Given the description of an element on the screen output the (x, y) to click on. 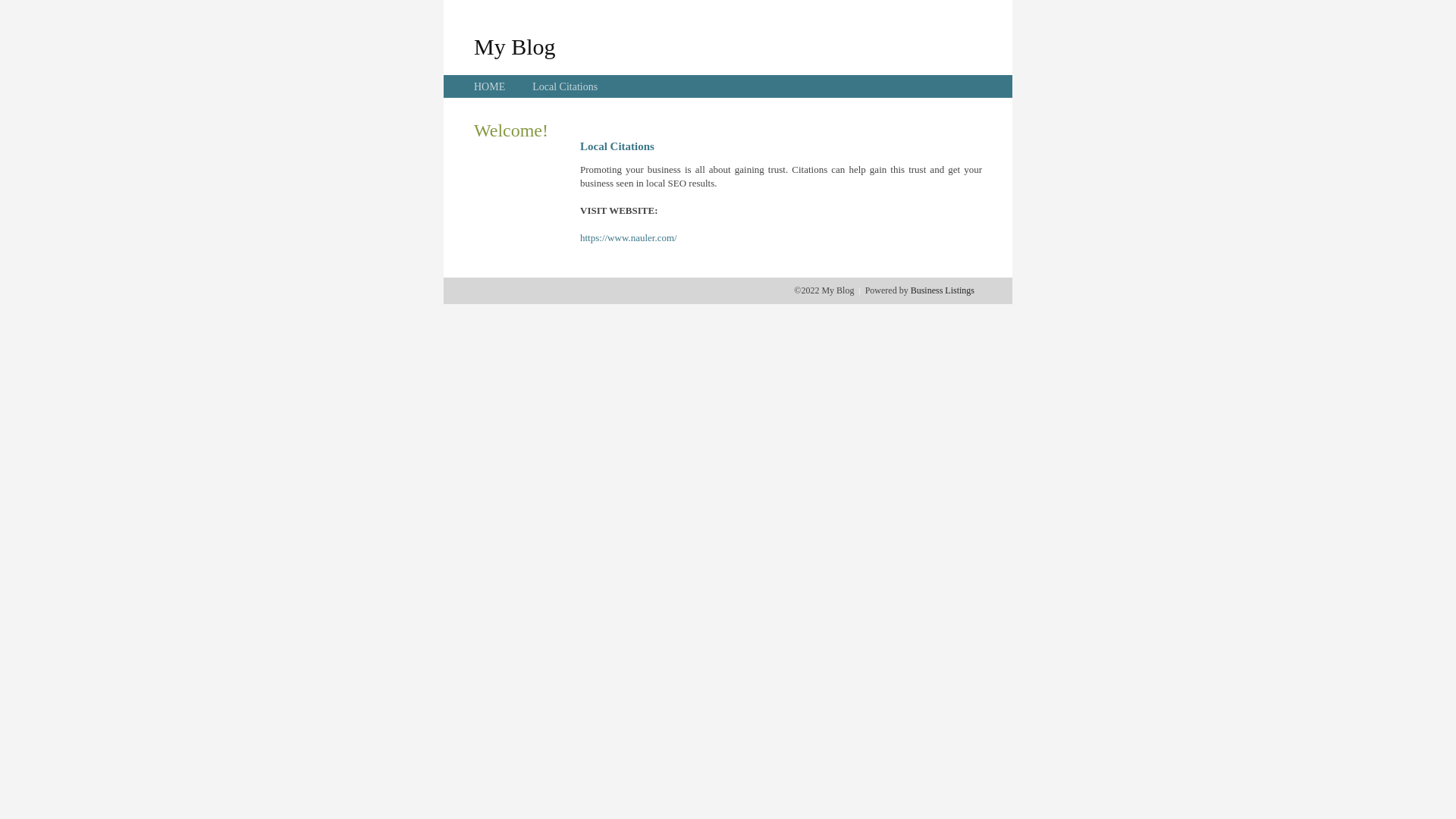
https://www.nauler.com/ Element type: text (628, 237)
HOME Element type: text (489, 86)
Business Listings Element type: text (942, 290)
Local Citations Element type: text (564, 86)
My Blog Element type: text (514, 46)
